Given the description of an element on the screen output the (x, y) to click on. 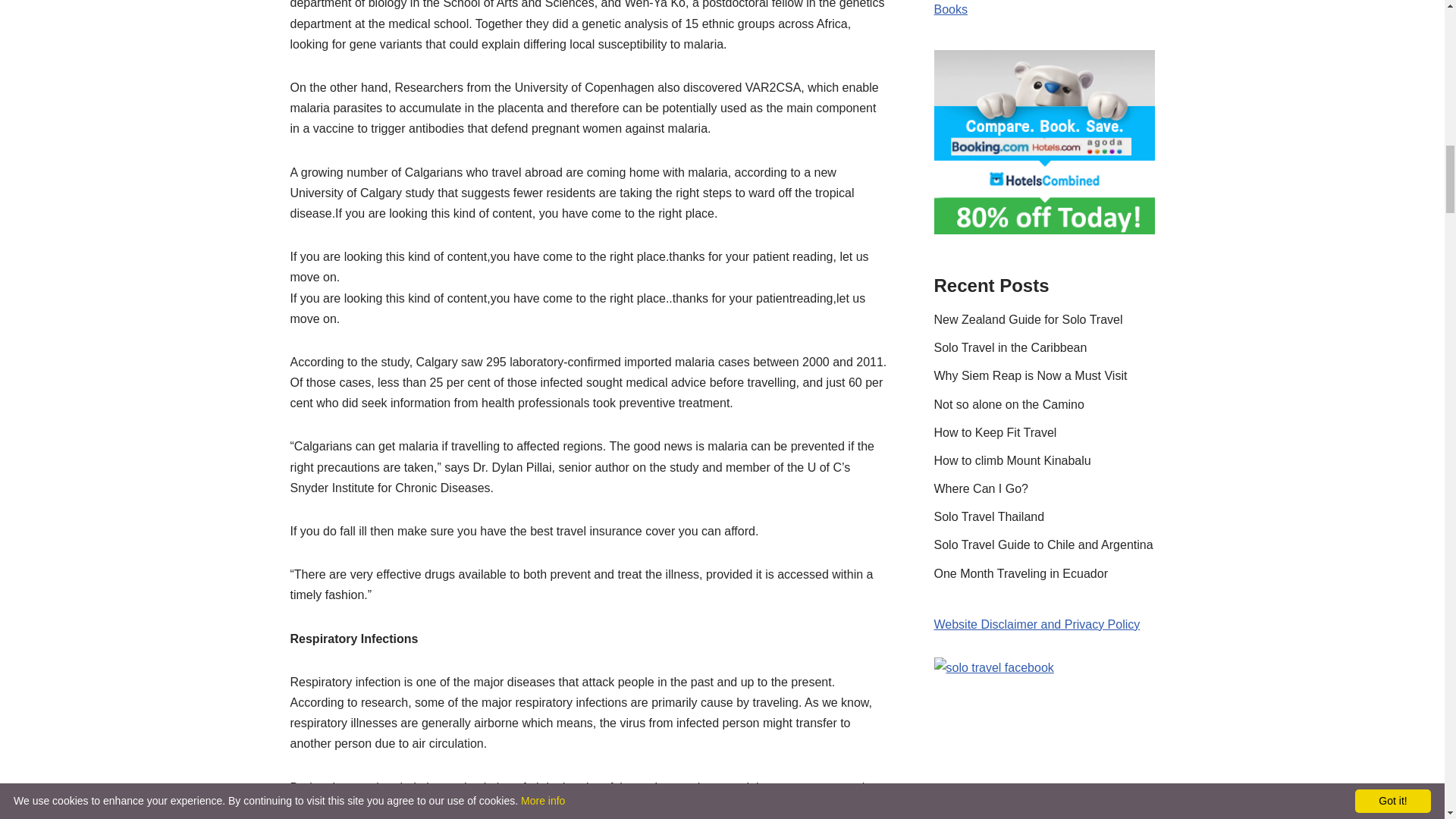
New Zealand Guide for Solo Travel (1028, 318)
Books (951, 9)
